Given the description of an element on the screen output the (x, y) to click on. 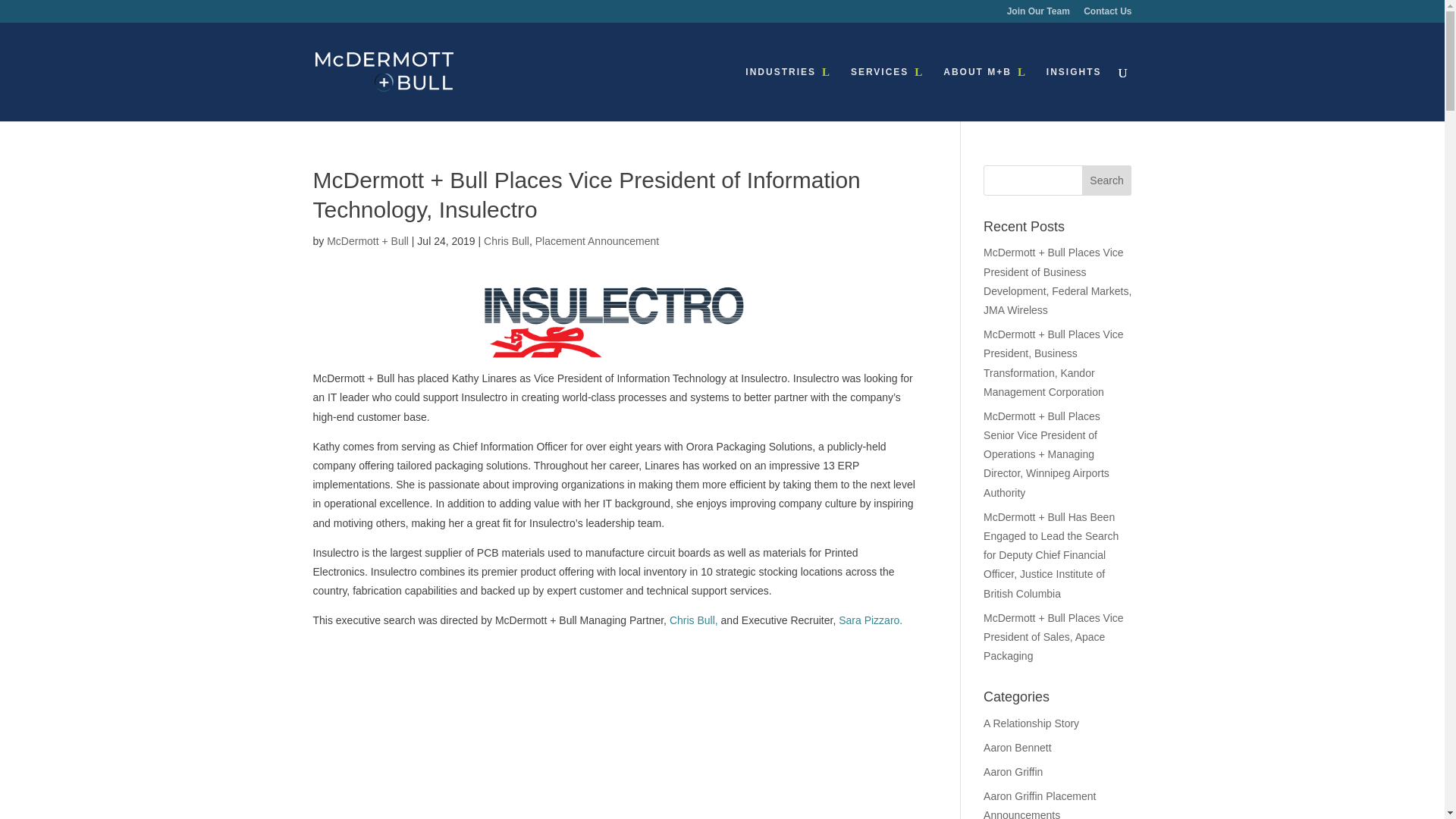
Join Our Team (1038, 14)
INSIGHTS (1074, 93)
Contact Us (1107, 14)
Search (1106, 180)
INDUSTRIES (788, 93)
SERVICES (886, 93)
